Given the description of an element on the screen output the (x, y) to click on. 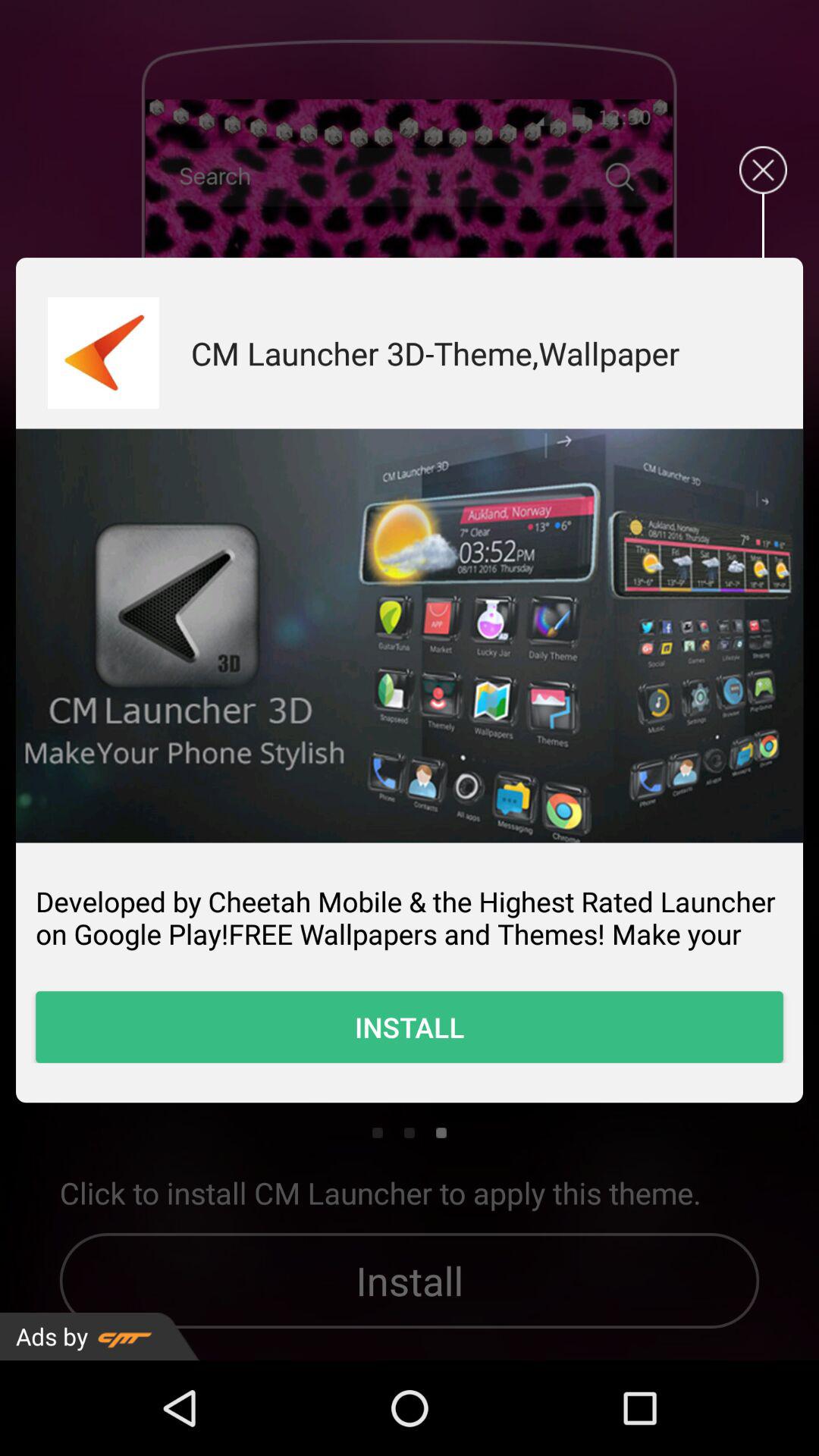
tab to open image (409, 635)
